Given the description of an element on the screen output the (x, y) to click on. 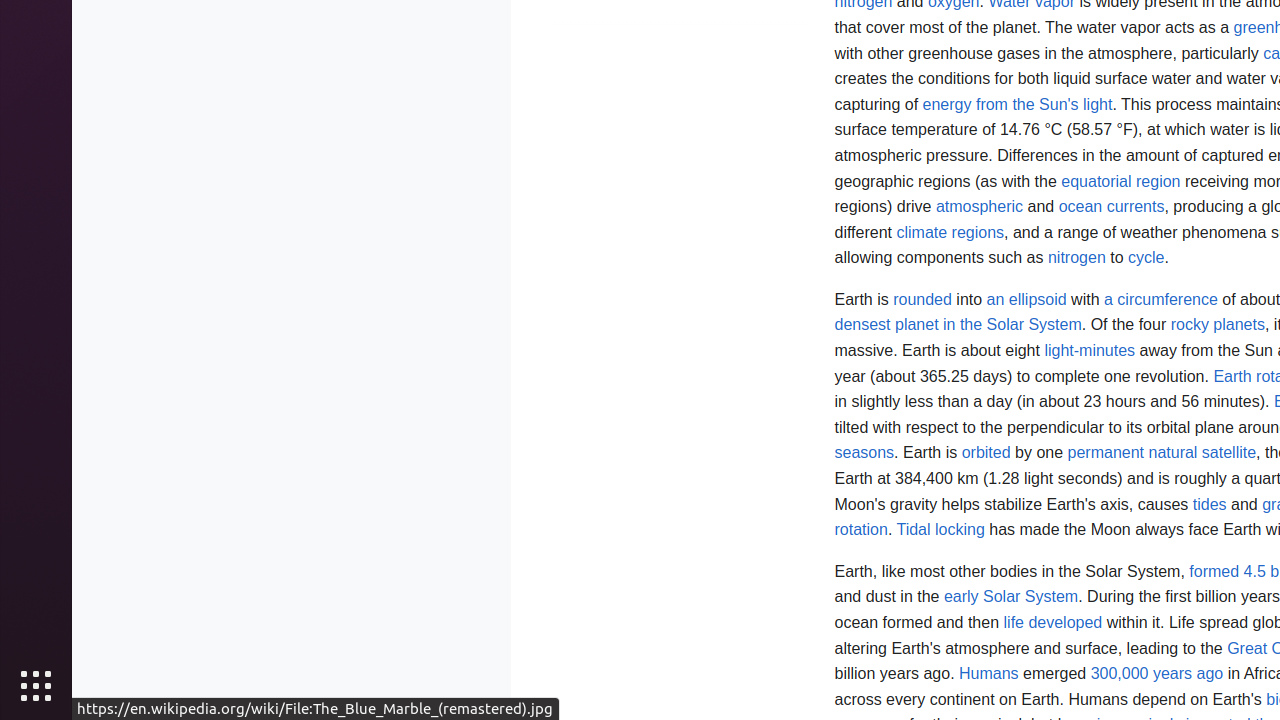
an ellipsoid Element type: link (1026, 299)
rounded Element type: link (922, 299)
rocky planets Element type: link (1217, 325)
